Given the description of an element on the screen output the (x, y) to click on. 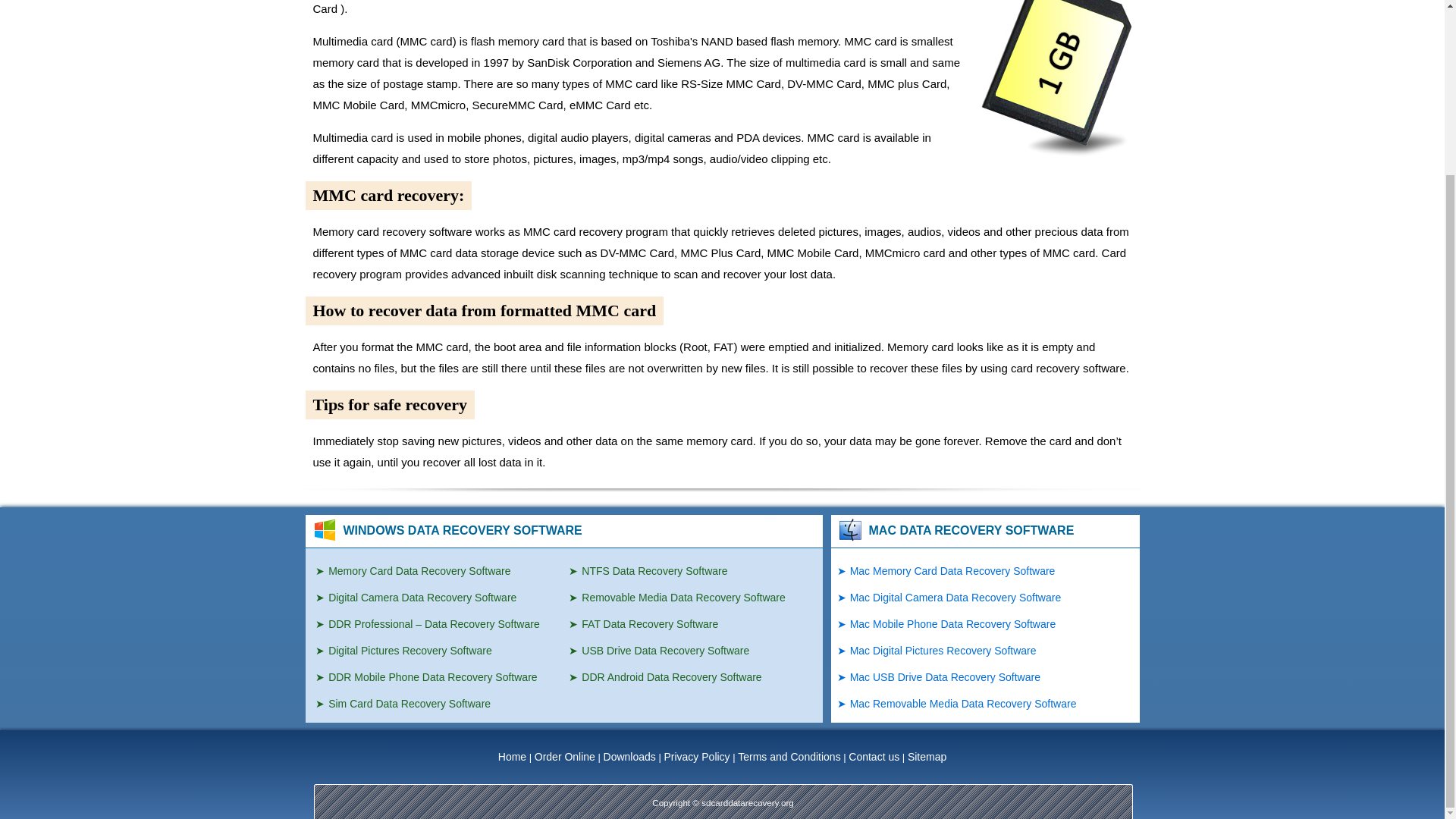
Sitemap (926, 756)
Digital Pictures Recovery Software (403, 650)
Mac Removable Media Data Recovery Software (957, 703)
Terms and Conditions (789, 756)
Order Online (564, 756)
FAT Data Recovery Software (643, 623)
DDR Android Data Recovery Software (665, 676)
Privacy Policy (696, 756)
Mac Memory Card Data Recovery Software (946, 571)
Sim Card Data Recovery Software (402, 703)
